Given the description of an element on the screen output the (x, y) to click on. 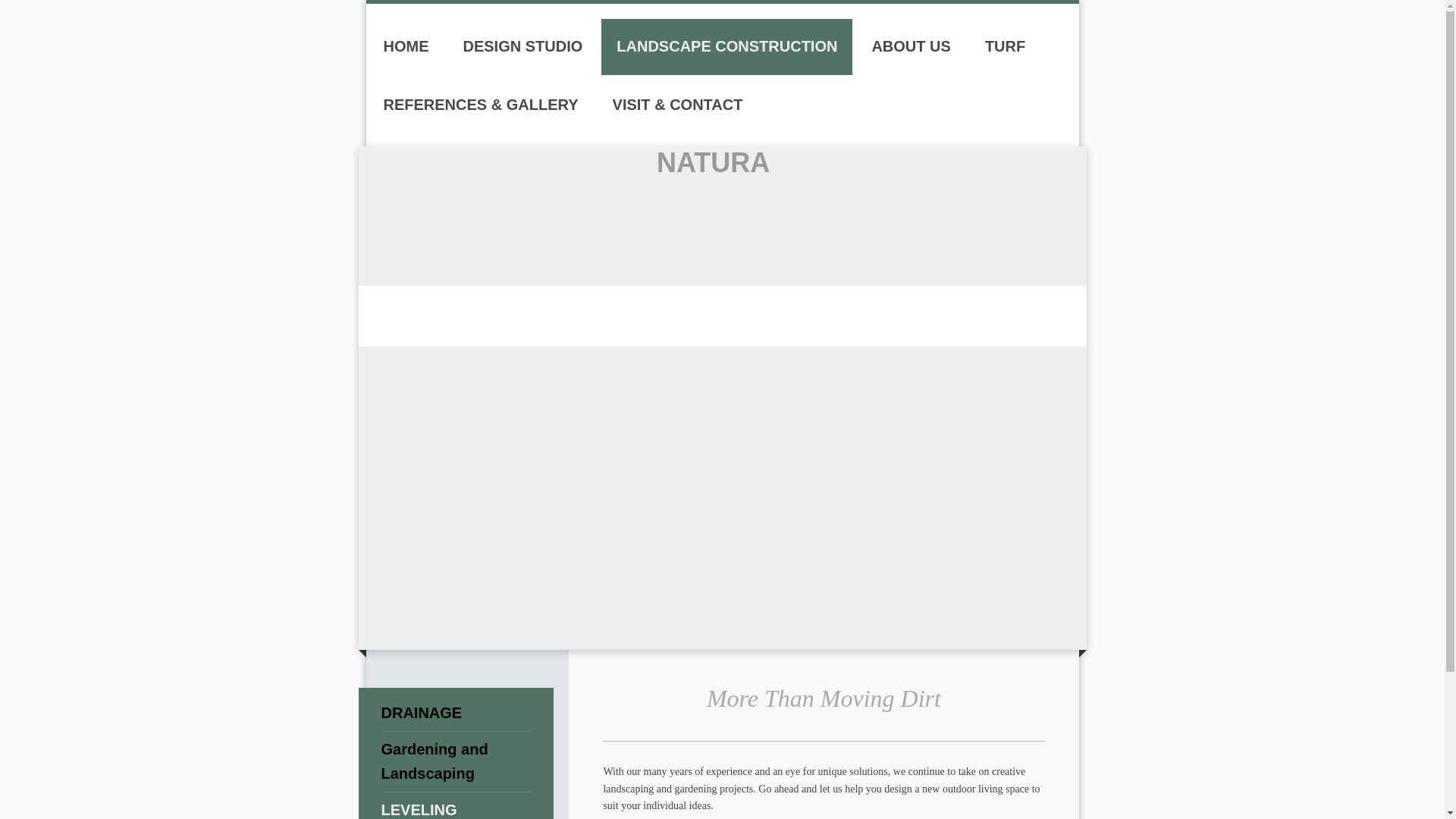
HOME (406, 46)
LEVELING (455, 805)
ABOUT US (910, 46)
Gardening and Landscaping (455, 761)
NATURA (713, 162)
TURF (1005, 46)
LANDSCAPE CONSTRUCTION (726, 46)
DRAINAGE (455, 713)
DESIGN STUDIO (521, 46)
